Given the description of an element on the screen output the (x, y) to click on. 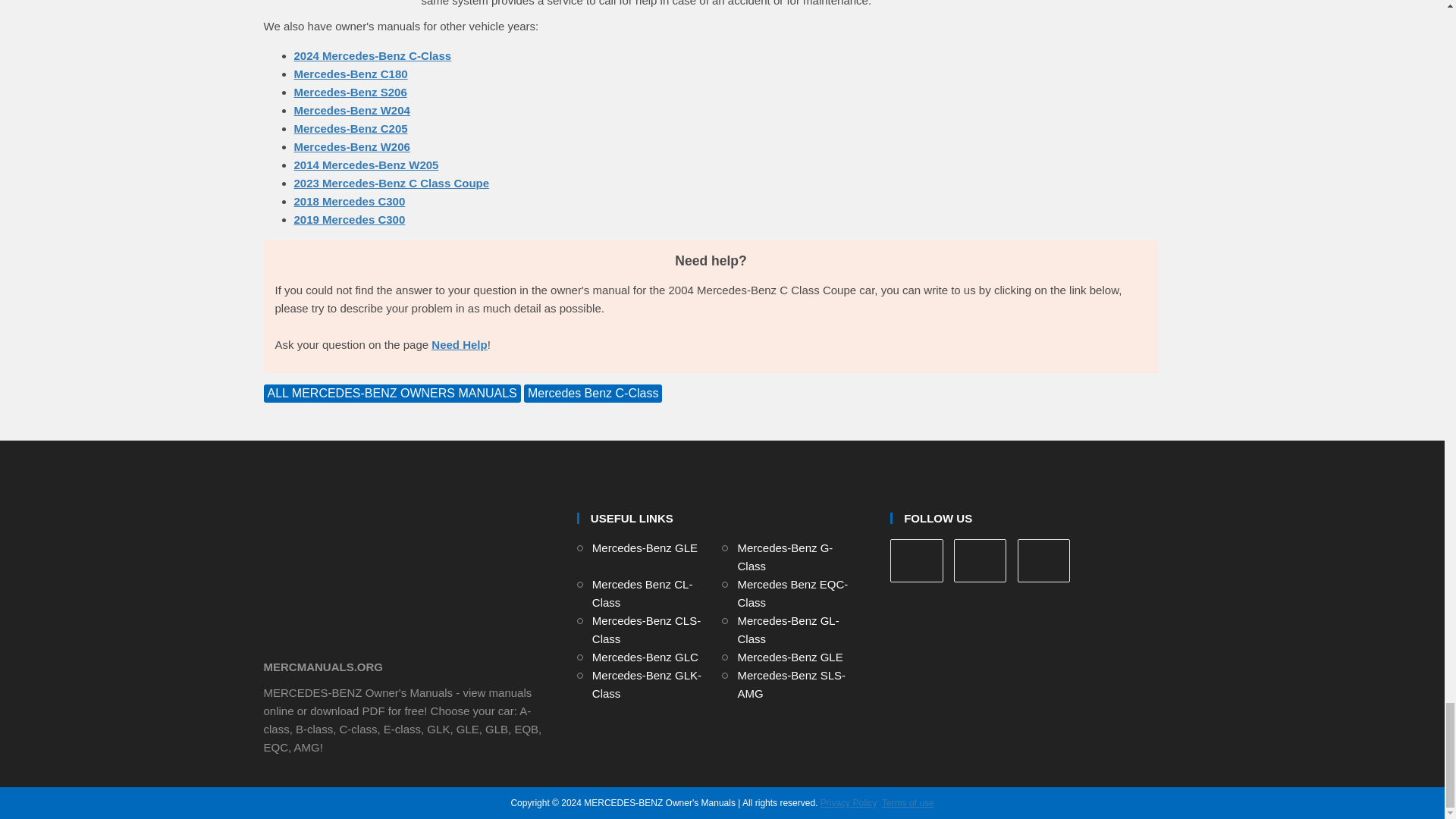
Mercedes-Benz W206 (352, 146)
2024 Mercedes-Benz C-Class (372, 55)
2019 Mercedes C300 (350, 219)
2023 Mercedes-Benz C Class Coupe (391, 182)
2018 Mercedes C300 (350, 201)
Mercedes-Benz C205 (350, 128)
2014 Mercedes-Benz W205 (366, 164)
Mercedes-Benz S206 (350, 91)
Mercedes-Benz C180 (350, 73)
Mercedes-Benz W204 (352, 110)
